Given the description of an element on the screen output the (x, y) to click on. 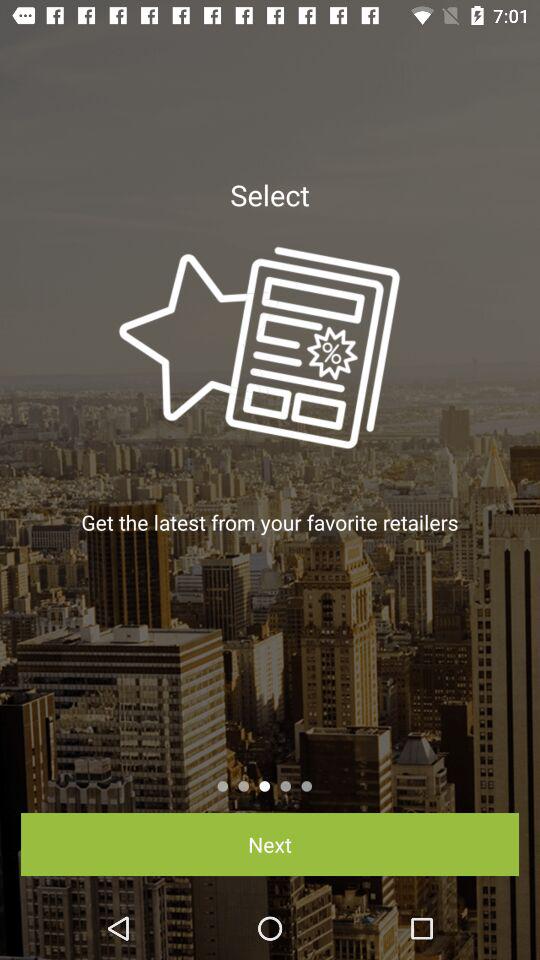
scroll to the next icon (270, 844)
